Given the description of an element on the screen output the (x, y) to click on. 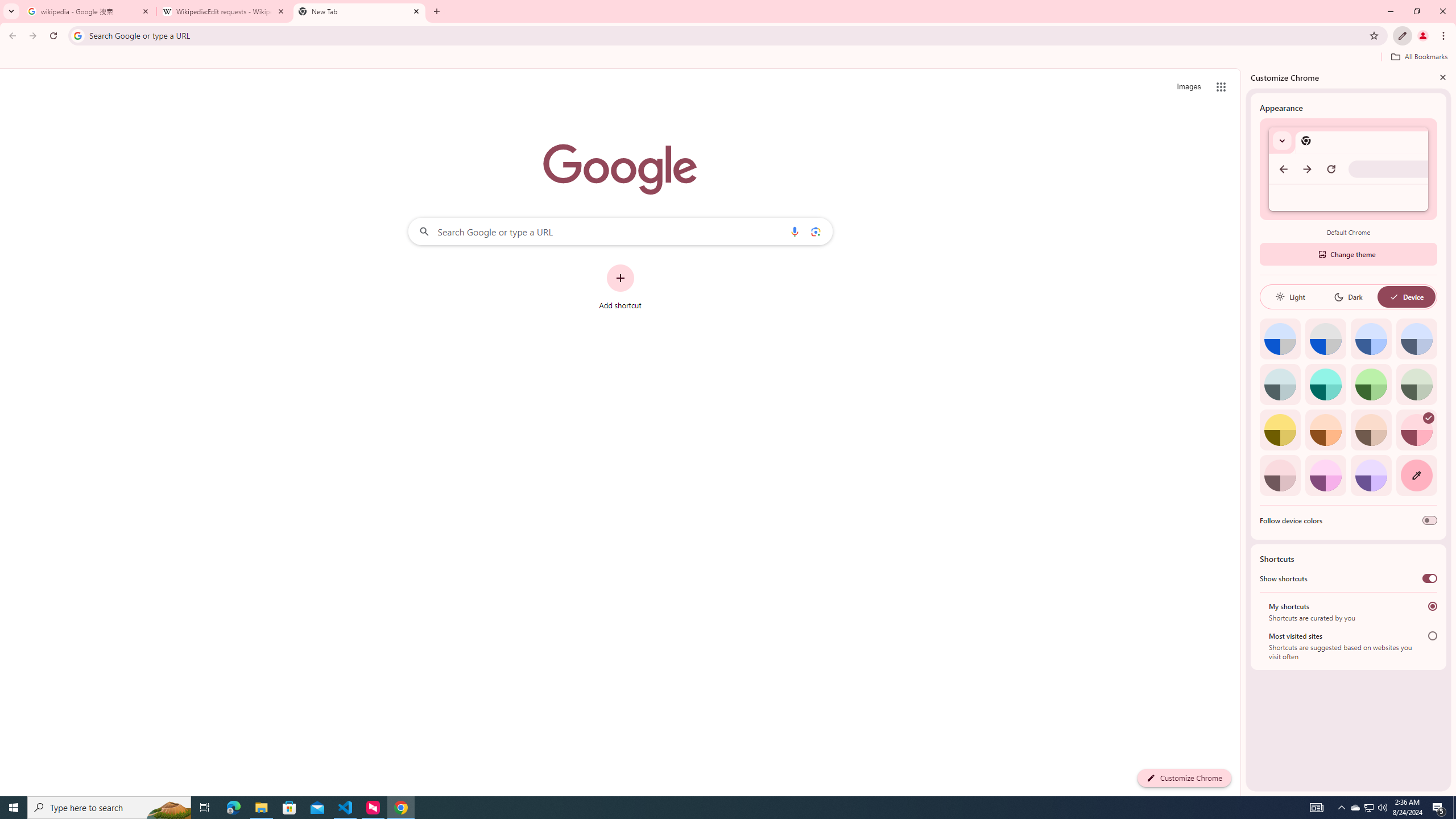
Rose (1416, 429)
Default Chrome (1348, 169)
Grey (1279, 383)
Most visited sites (1432, 635)
Device (1406, 296)
